Given the description of an element on the screen output the (x, y) to click on. 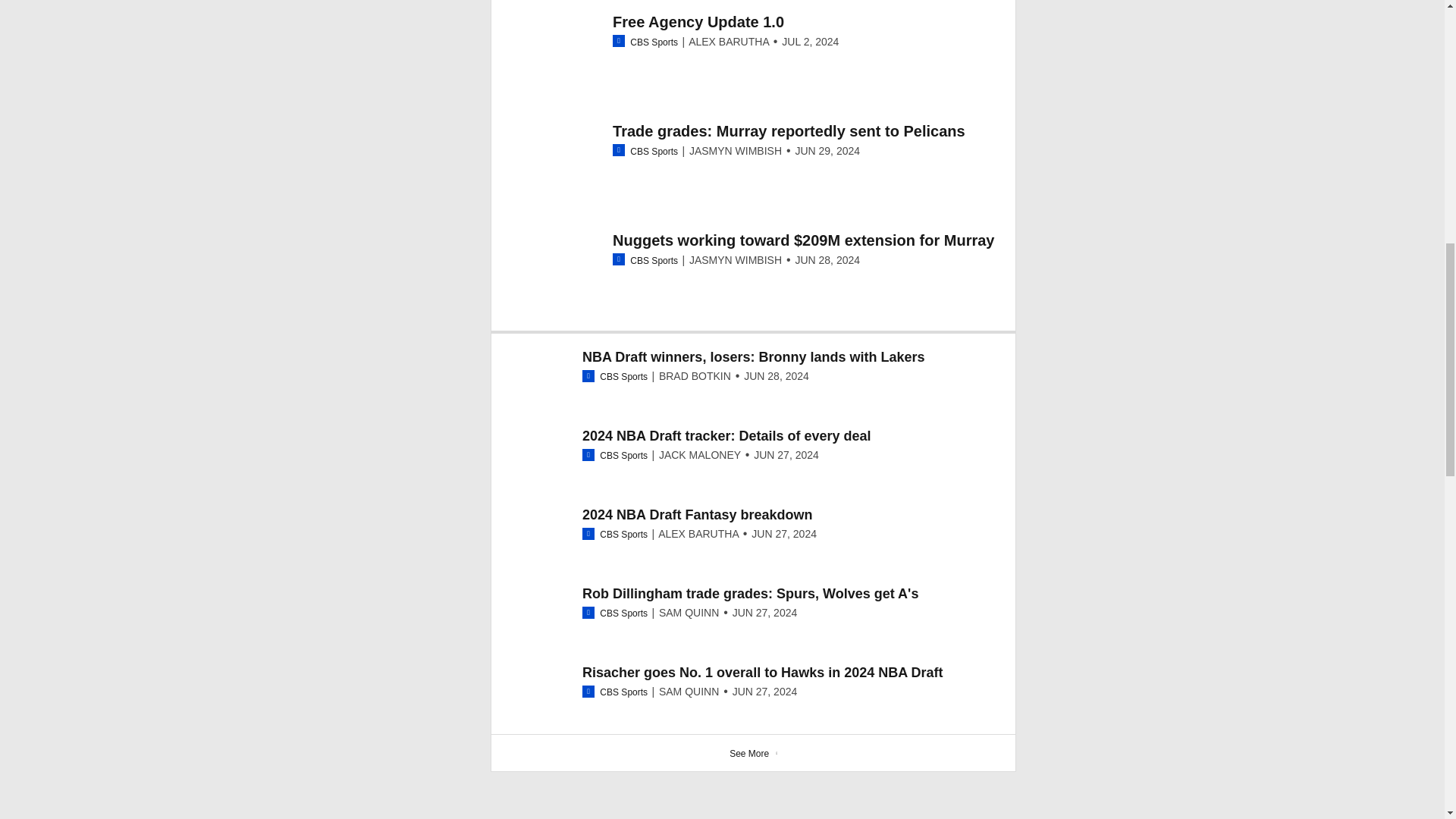
2024 NBA Draft Fantasy breakdown (697, 513)
Rob Dillingham trade grades: Spurs, Wolves get A's (750, 592)
Free Agency Update 1.0 (698, 21)
2024 NBA Draft tracker: Details of every deal (726, 435)
Trade grades: Murray reportedly sent to Pelicans (788, 130)
NBA Draft winners, losers: Bronny lands with Lakers (753, 355)
